Given the description of an element on the screen output the (x, y) to click on. 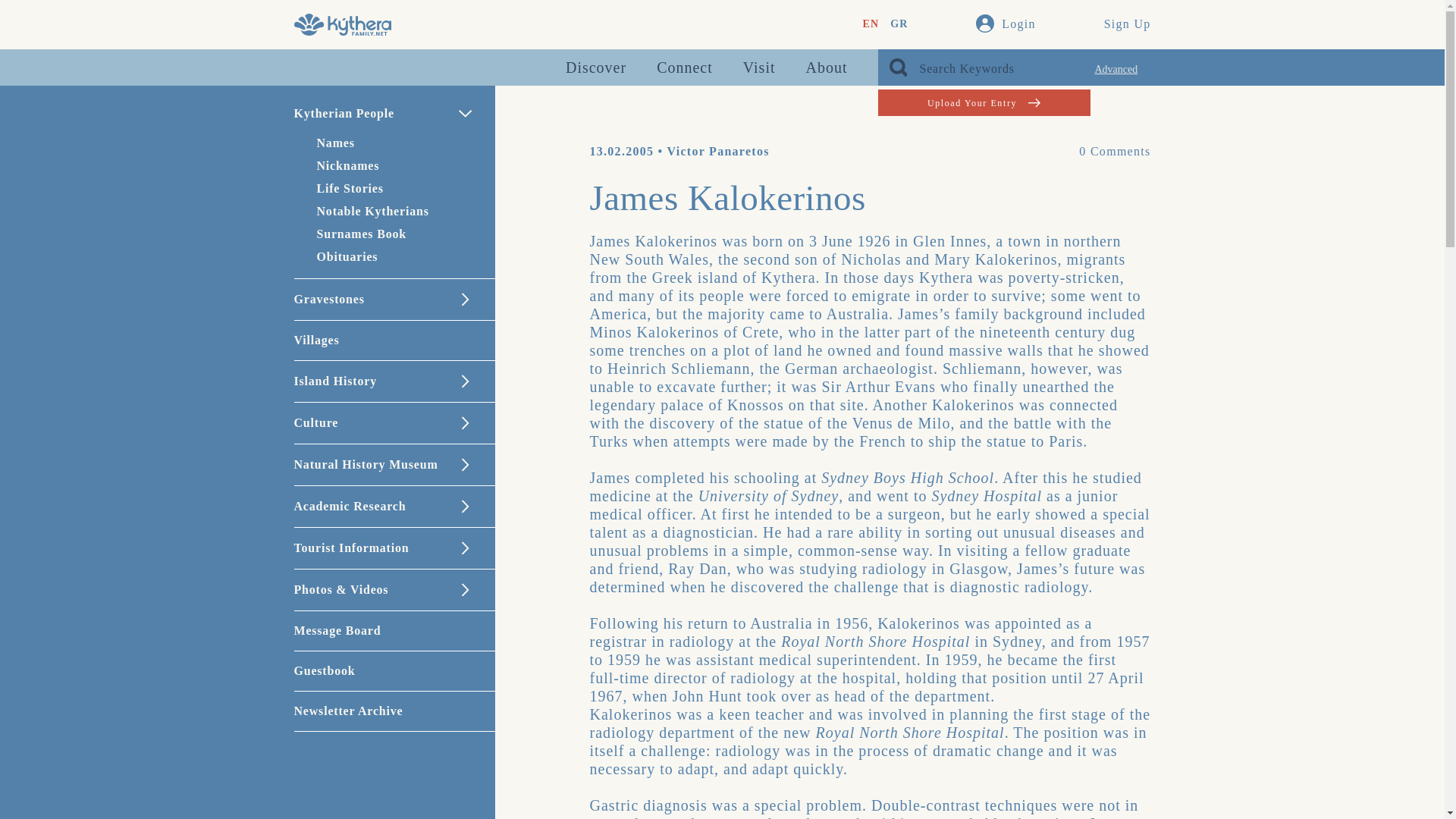
Natural History Museum (394, 464)
EN (871, 24)
Connect (684, 67)
Nicknames (348, 164)
Obituaries (347, 256)
Obituaries (347, 256)
Notable Kytherians (373, 210)
Sign Up (1127, 24)
Names (336, 142)
Life Stories (350, 187)
Surnames Book (361, 233)
Discover (596, 67)
Villages (394, 340)
Gravestones (394, 299)
GR (898, 24)
